Given the description of an element on the screen output the (x, y) to click on. 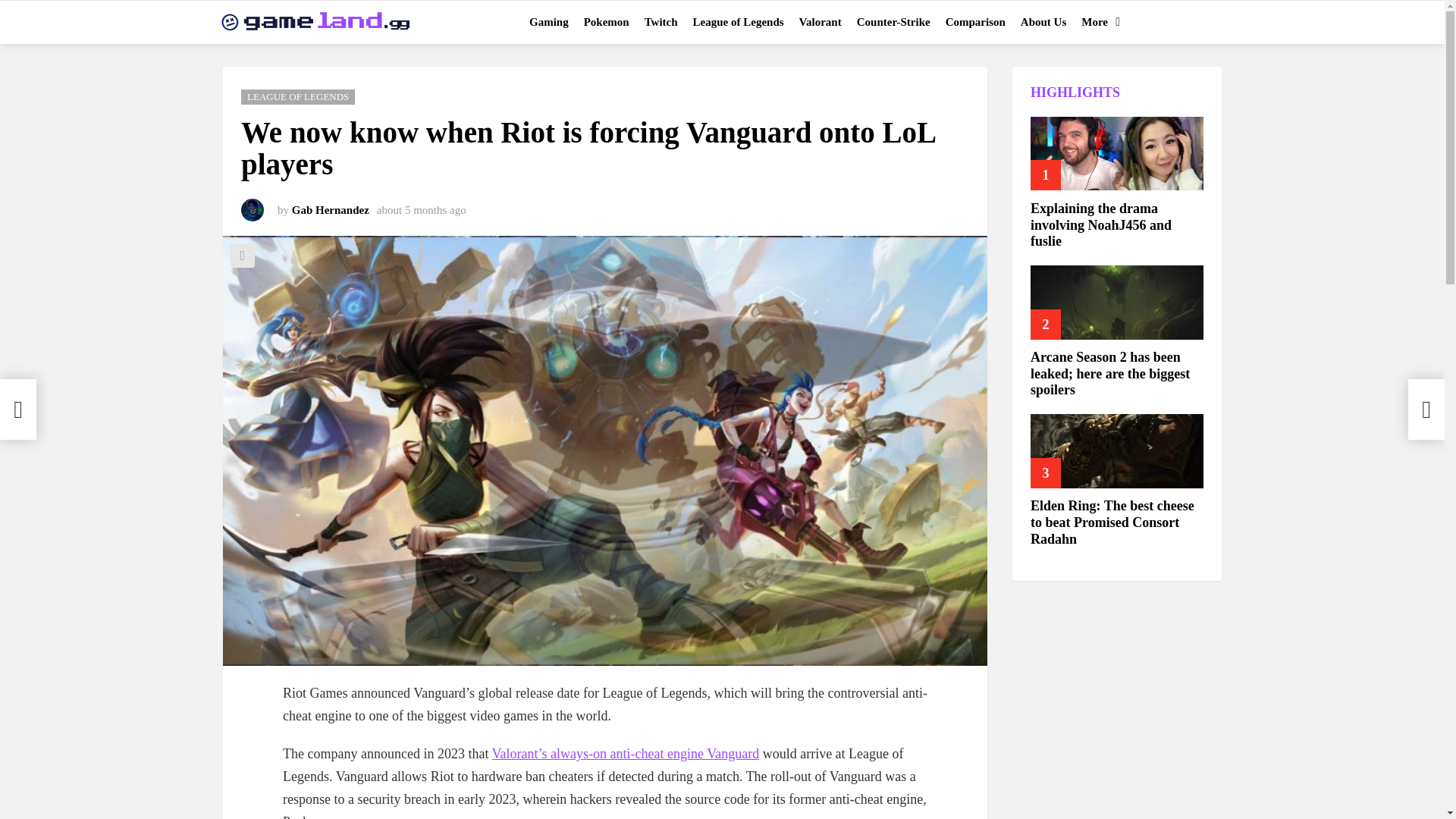
Posts by Gab Hernandez (330, 209)
More (1096, 21)
Gaming (548, 21)
Twitch (661, 21)
Explaining the drama involving NoahJ456 and fuslie (1117, 153)
Comparison (975, 21)
Valorant (820, 21)
League of Legends (738, 21)
Pokemon (606, 21)
